Given the description of an element on the screen output the (x, y) to click on. 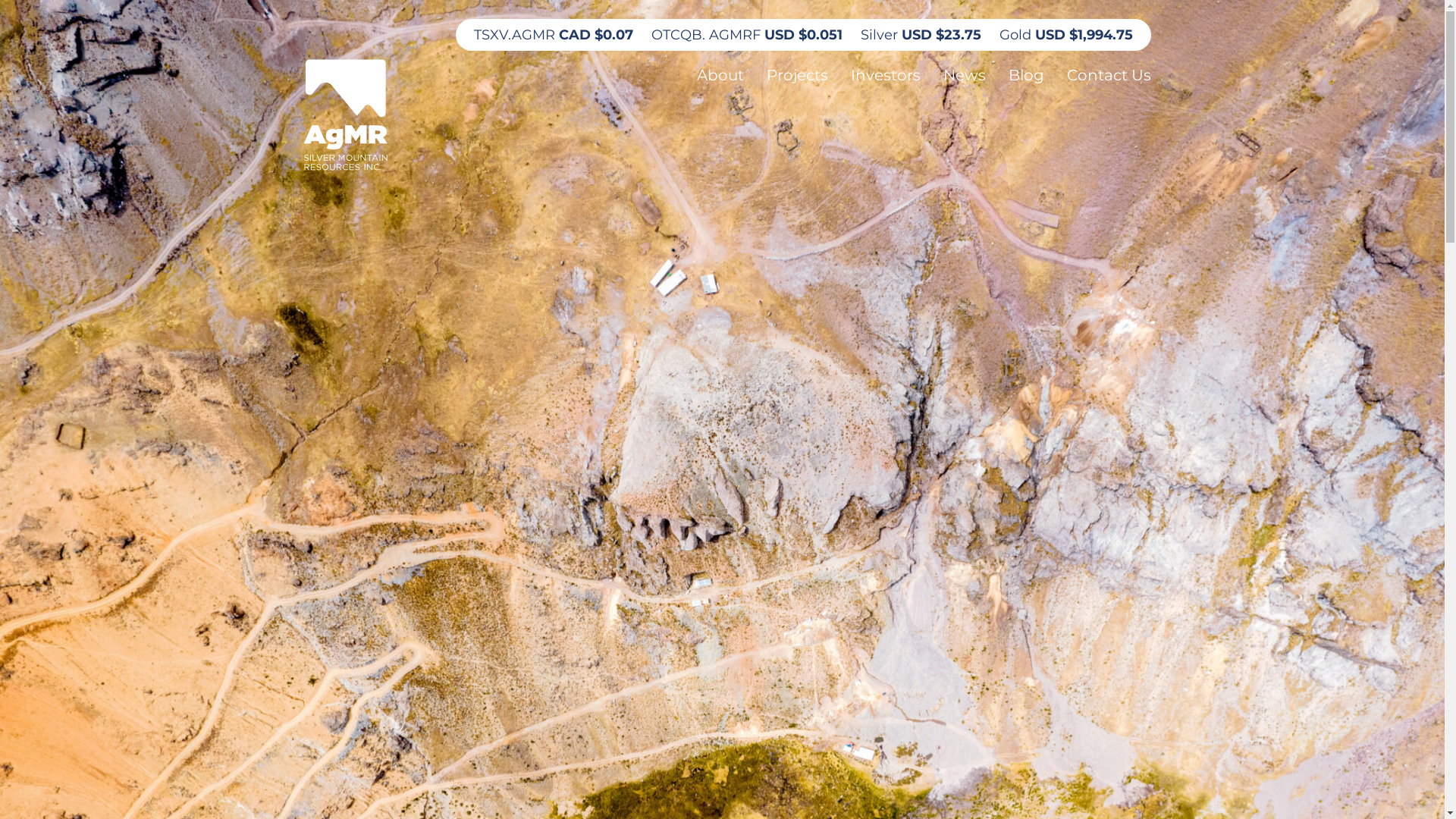
News Element type: text (964, 74)
About Element type: text (719, 74)
Contact Us Element type: text (1108, 74)
Projects Element type: text (796, 74)
Blog Element type: text (1026, 74)
Investors Element type: text (885, 74)
